Given the description of an element on the screen output the (x, y) to click on. 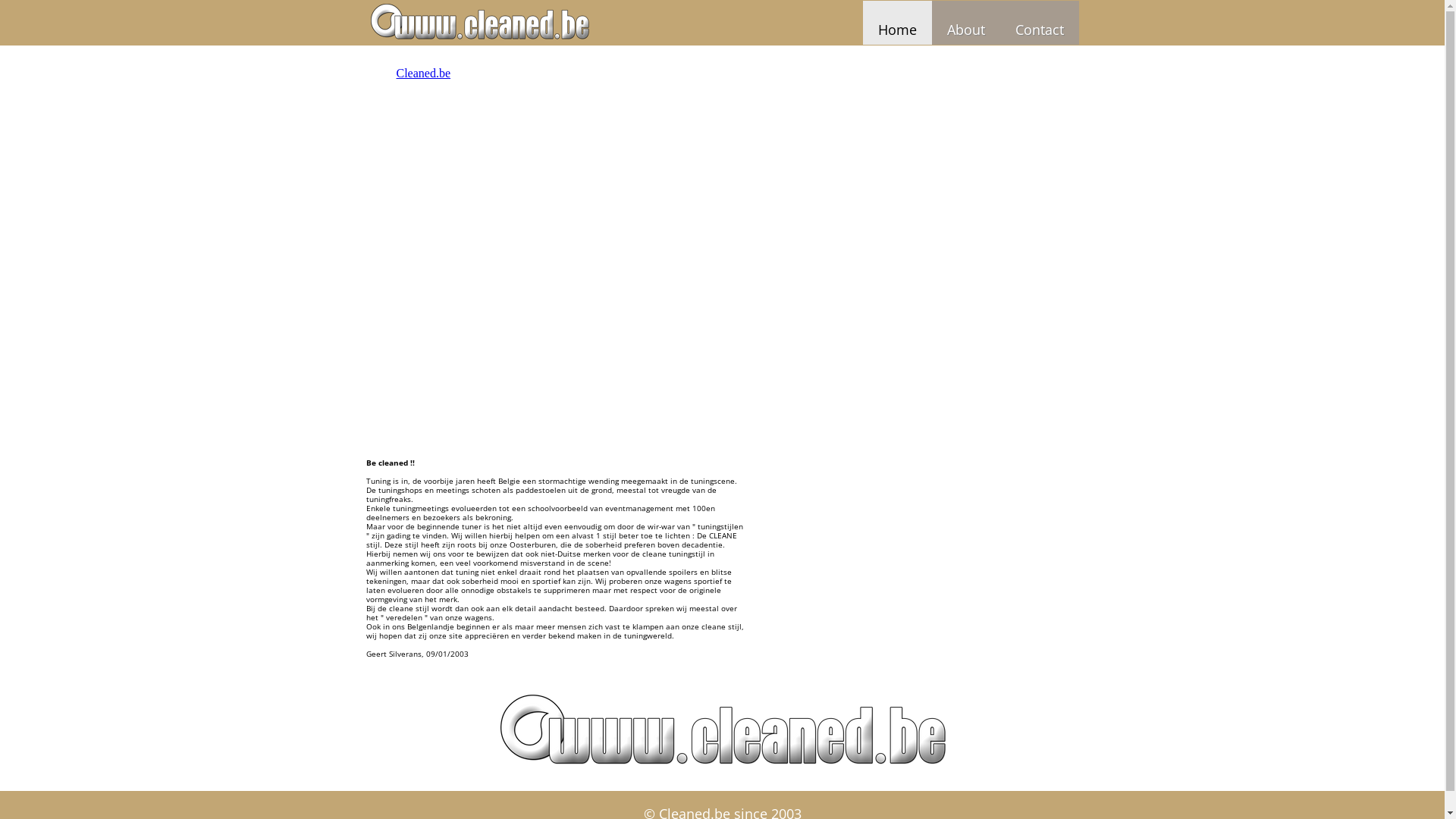
Contact Element type: text (1038, 22)
Home Element type: text (896, 22)
Advertisement Element type: hover (923, 160)
About Element type: text (965, 22)
Home
About
Contact Element type: text (721, 22)
Cleaned.be Element type: text (422, 72)
